Given the description of an element on the screen output the (x, y) to click on. 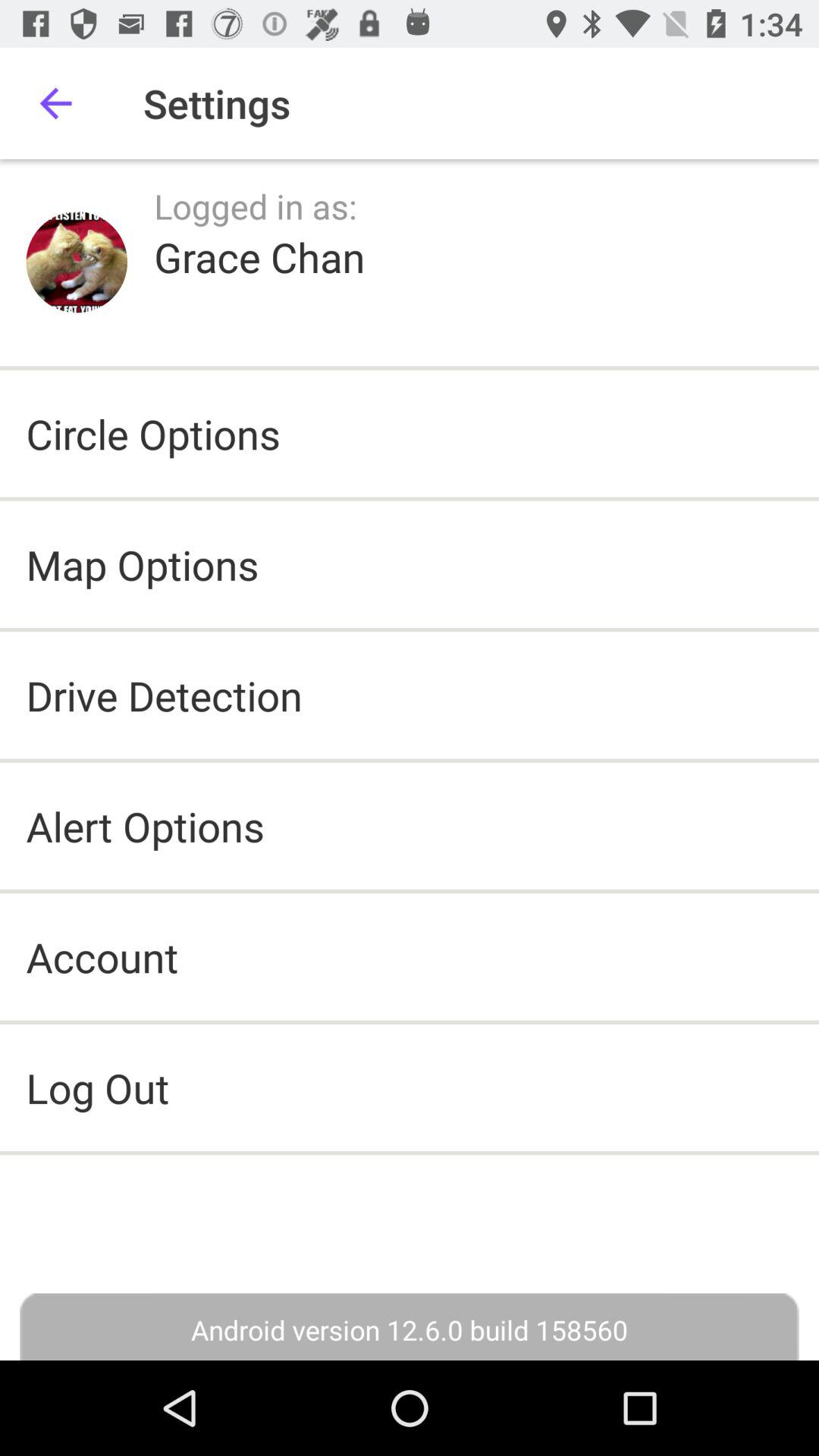
tap alert options (145, 825)
